Given the description of an element on the screen output the (x, y) to click on. 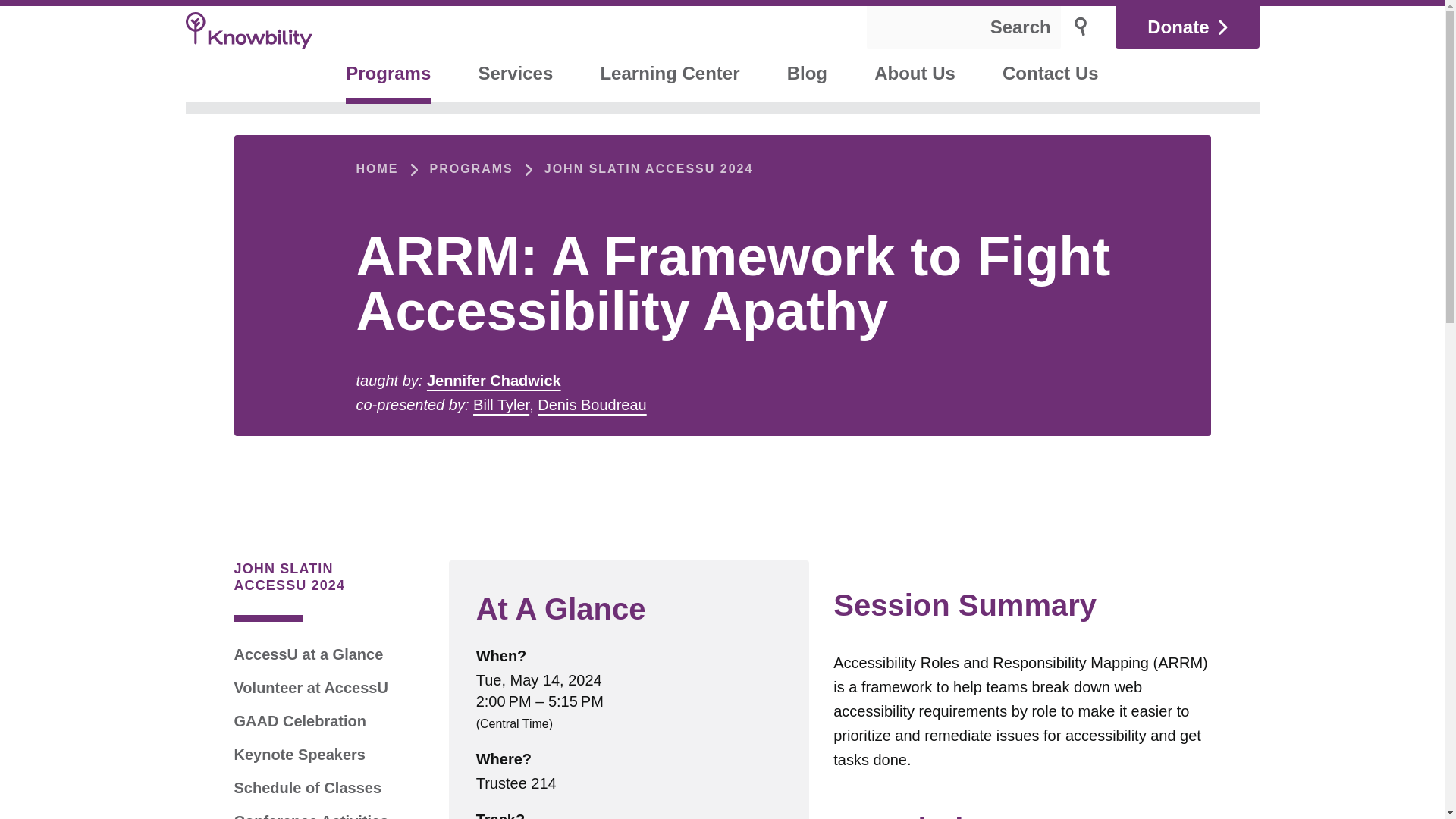
HOME (377, 168)
About Us (914, 75)
2024-05-14T17:15:00-05:00 (576, 701)
Donate (1187, 26)
Programs (387, 75)
Conference Activities (310, 815)
GAAD Celebration (298, 721)
Keynote Speakers (298, 754)
AccessU at a Glance (307, 654)
JOHN SLATIN ACCESSU 2024 (649, 168)
